Given the description of an element on the screen output the (x, y) to click on. 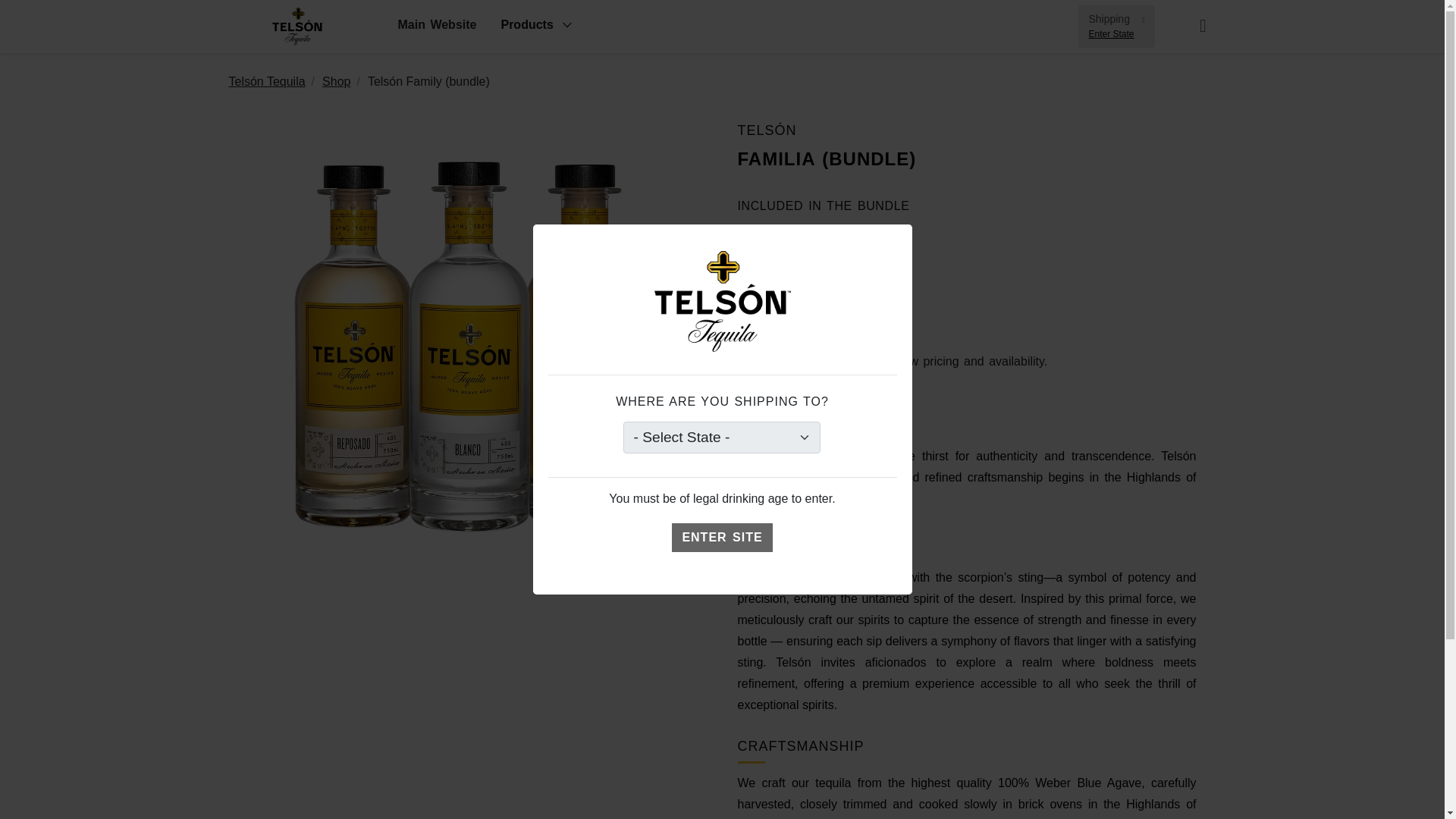
SELECT STATE (809, 361)
Shop (335, 81)
Main Website (1116, 25)
ENTER SITE (436, 26)
Products (721, 537)
